Given the description of an element on the screen output the (x, y) to click on. 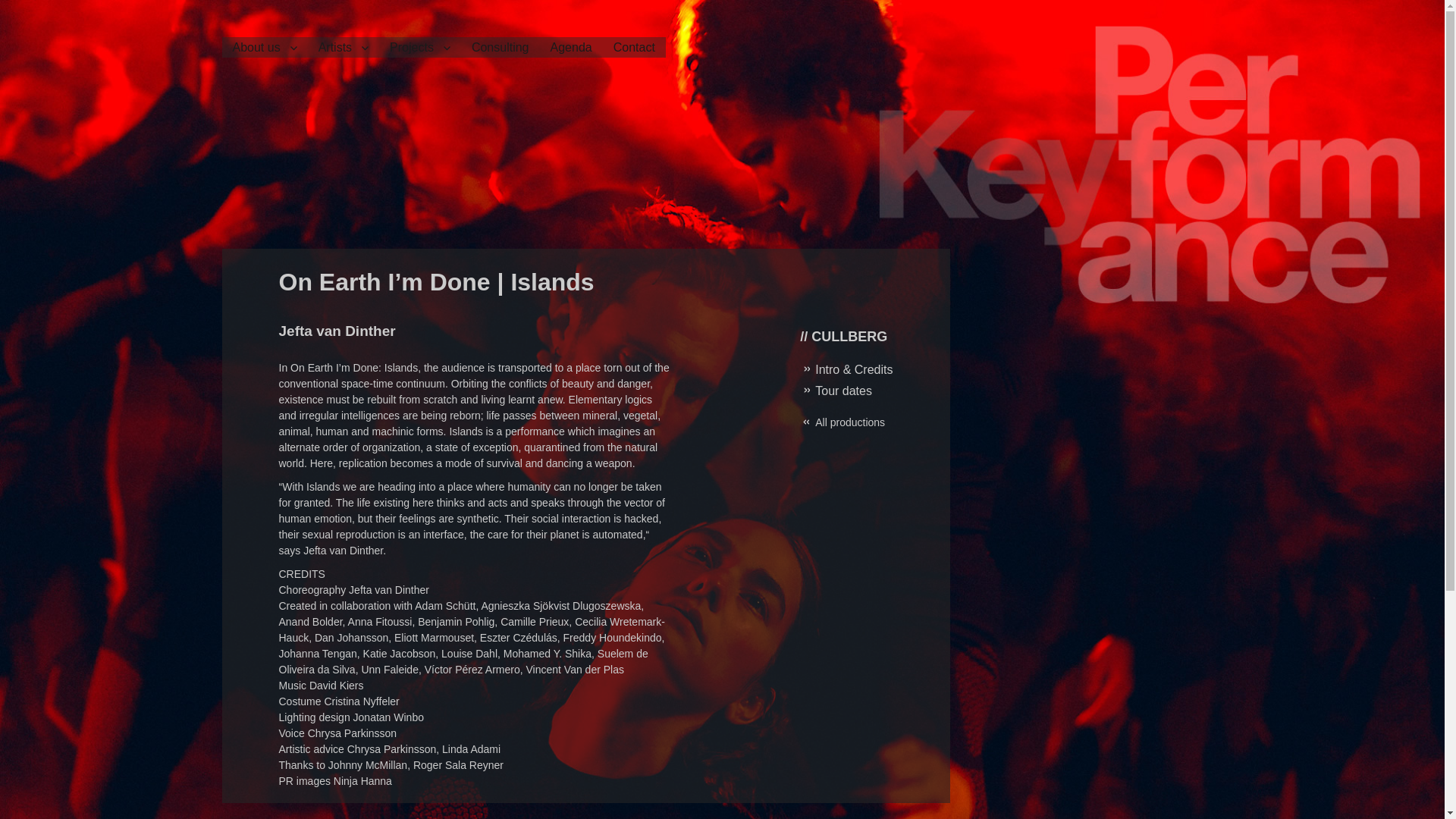
Artists (342, 46)
About us (264, 46)
